Given the description of an element on the screen output the (x, y) to click on. 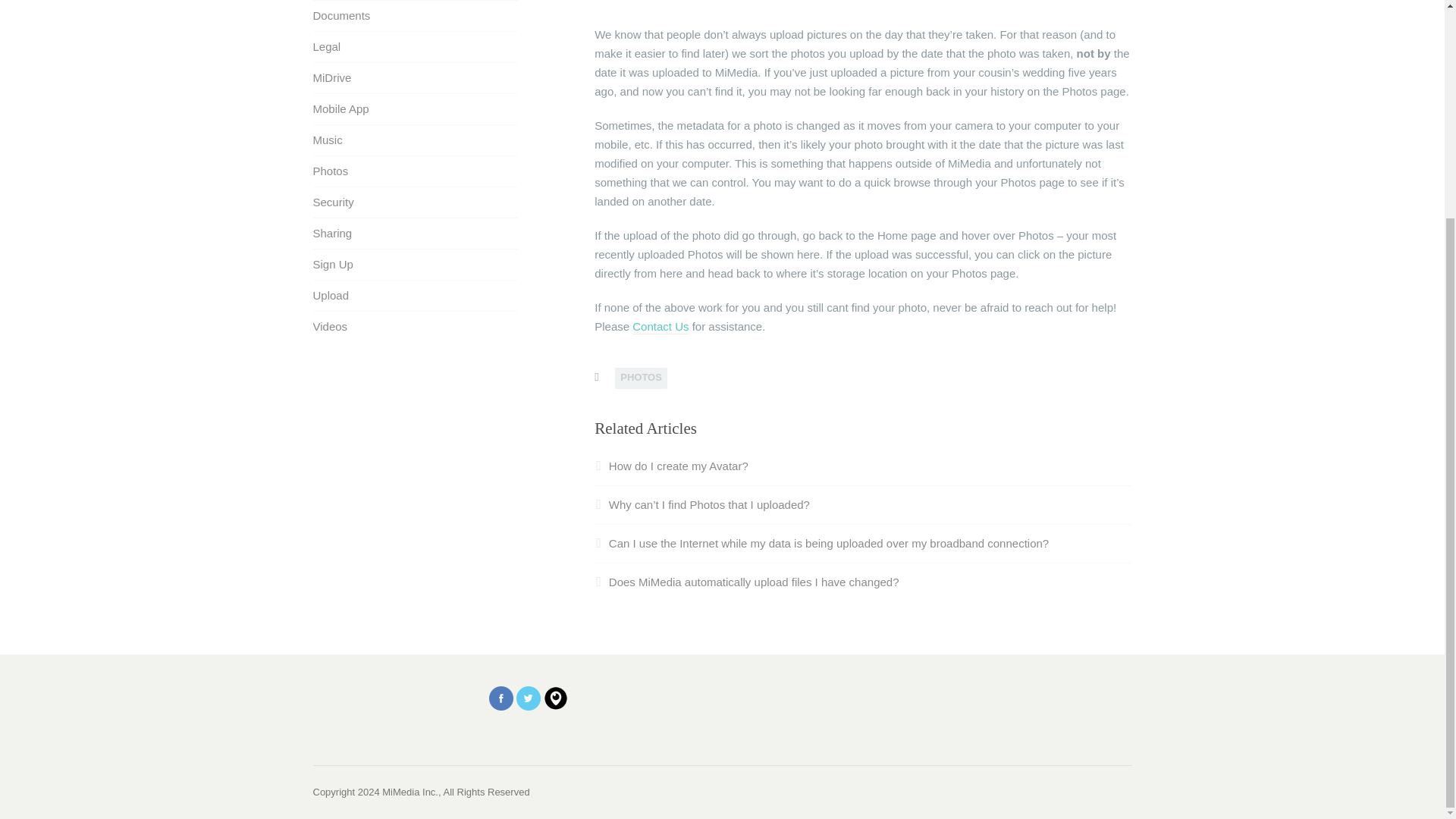
How do I create my Avatar? (671, 465)
How do I create my Avatar? (671, 465)
Facebook (501, 698)
Photos (330, 170)
Twitter (528, 705)
Does MiMedia automatically upload files I have changed? (746, 581)
Sign Up (332, 264)
PHOTOS (640, 378)
MiDrive (331, 77)
Does MiMedia automatically upload files I have changed? (746, 581)
Videos (330, 326)
Sharing (332, 232)
Persicope (555, 698)
Mobile App (340, 108)
